Given the description of an element on the screen output the (x, y) to click on. 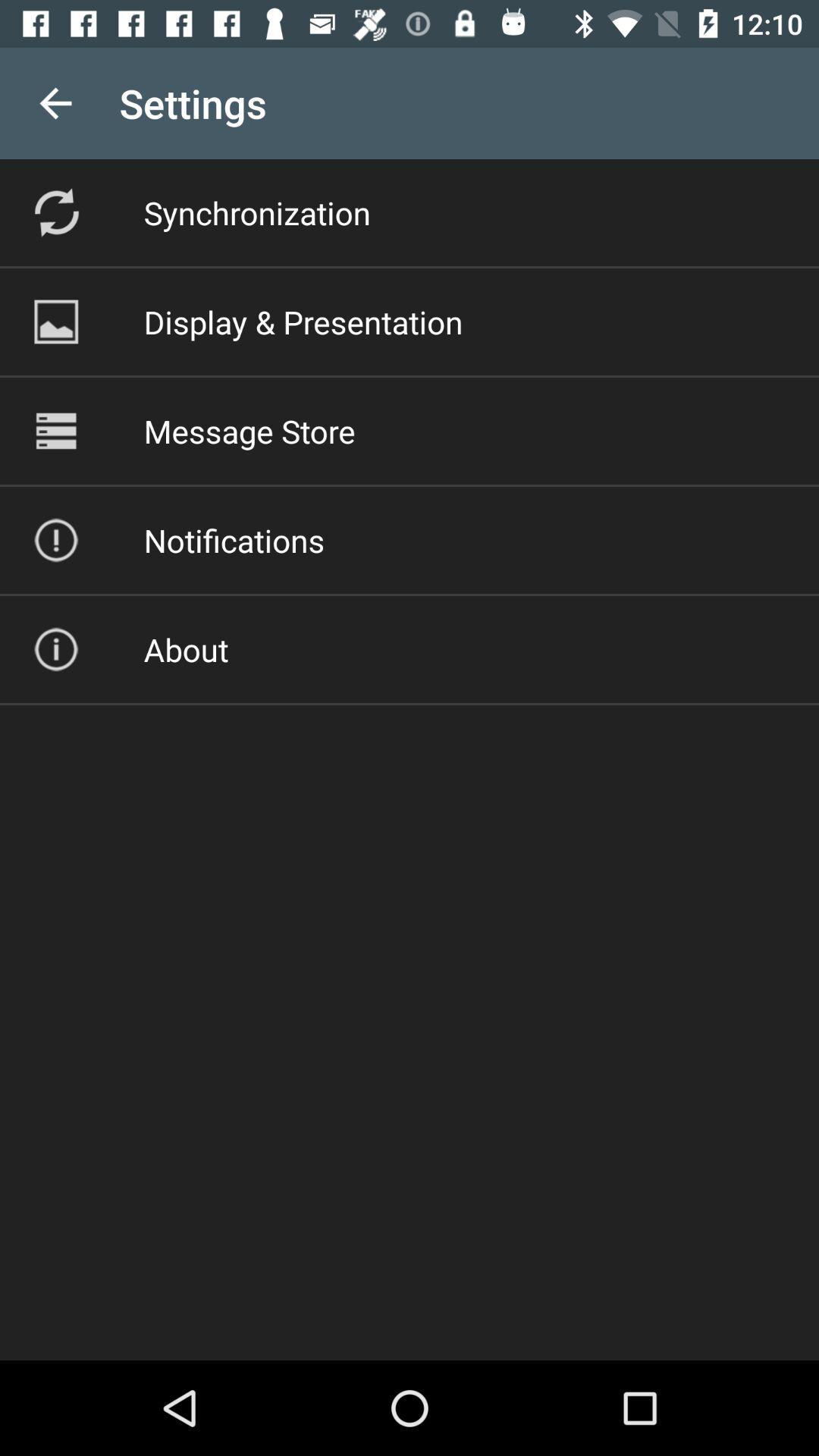
swipe until about (185, 649)
